Given the description of an element on the screen output the (x, y) to click on. 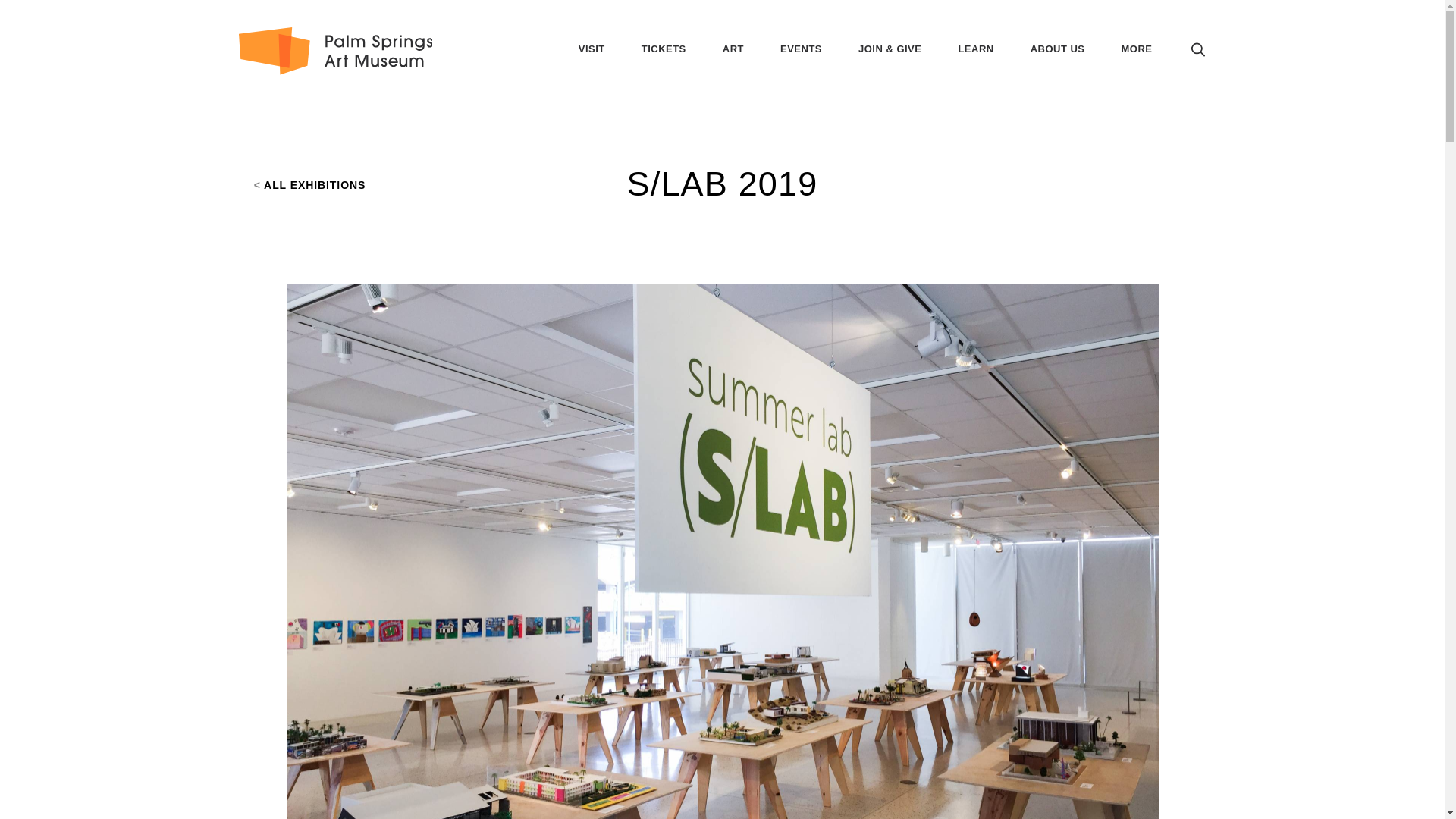
Palm Springs Art Museum logo (334, 51)
VISIT (591, 68)
Palm Springs Art Museum logo (335, 50)
EVENTS (800, 68)
ABOUT US (1057, 68)
ART (732, 68)
TICKETS (663, 68)
LEARN (975, 68)
